Given the description of an element on the screen output the (x, y) to click on. 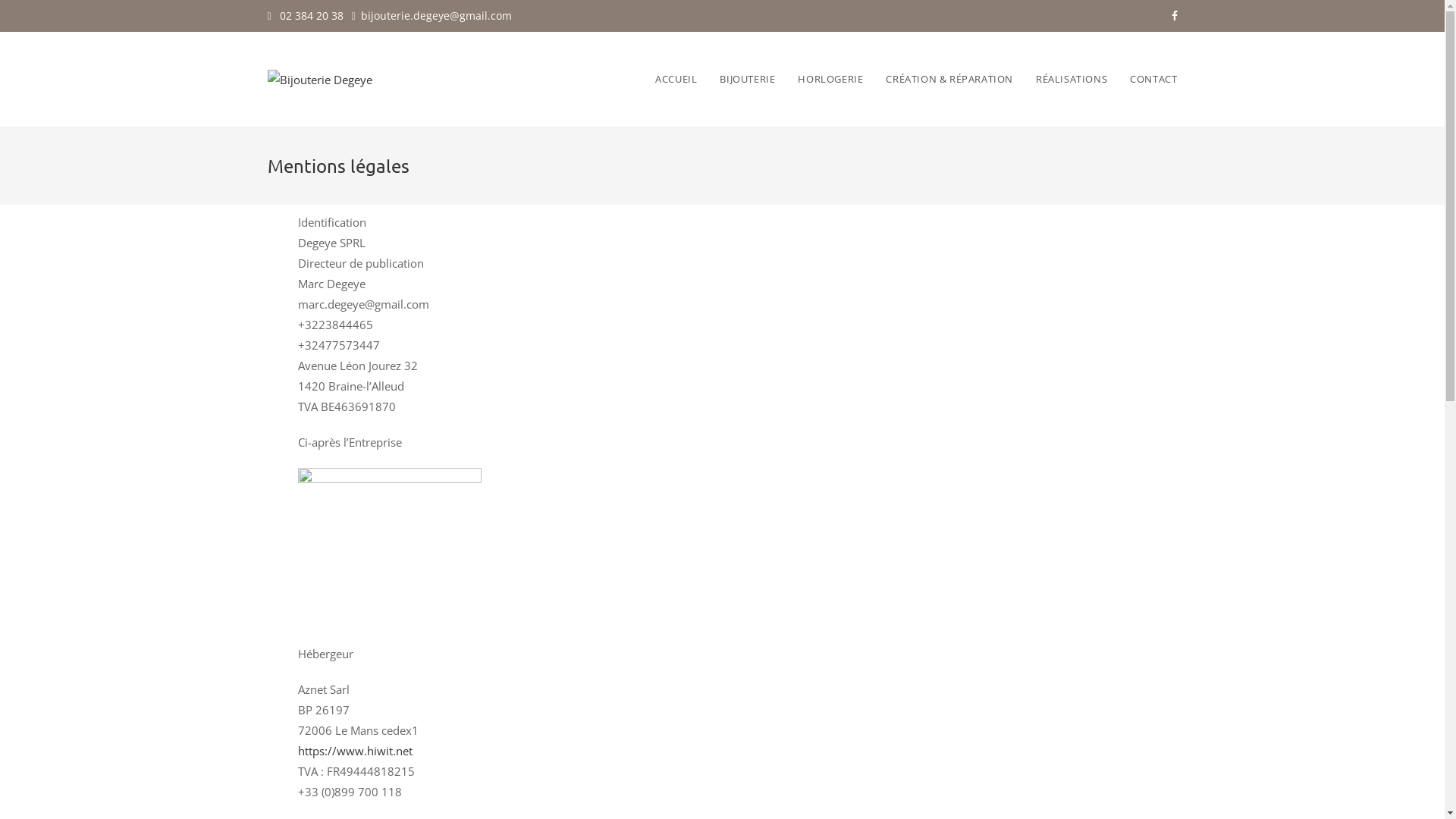
https://www.hiwit.net Element type: text (354, 750)
BIJOUTERIE Element type: text (747, 78)
CONTACT Element type: text (1153, 78)
Facebook Element type: hover (1171, 15)
HORLOGERIE Element type: text (830, 78)
ACCUEIL Element type: text (675, 78)
